Given the description of an element on the screen output the (x, y) to click on. 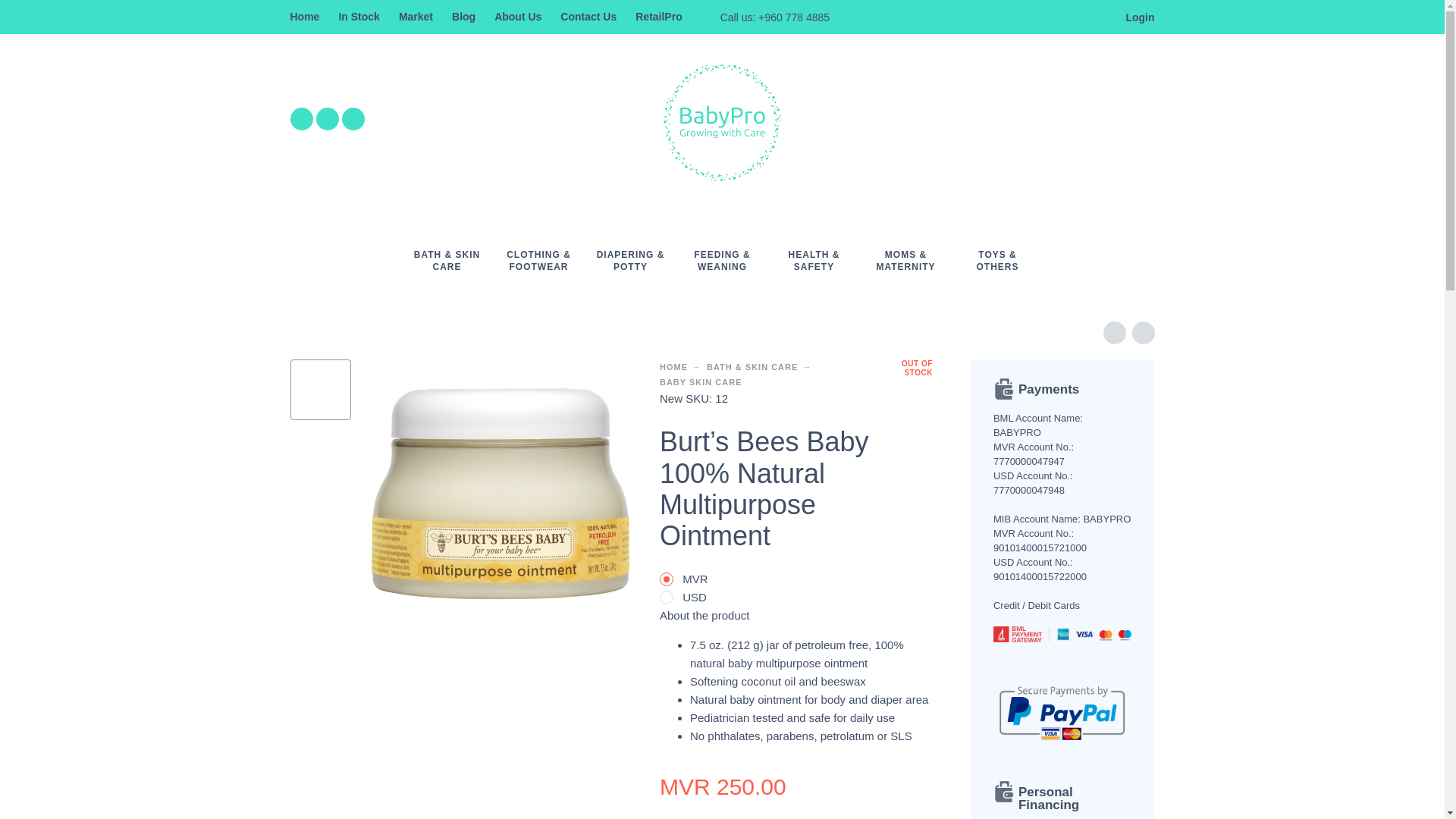
In Stock (357, 16)
RetailPro (657, 16)
USD (665, 597)
Contact Us (587, 16)
About Us (518, 16)
Market (415, 16)
Home (303, 16)
Login (1133, 16)
MVR (665, 579)
Blog (463, 16)
